Given the description of an element on the screen output the (x, y) to click on. 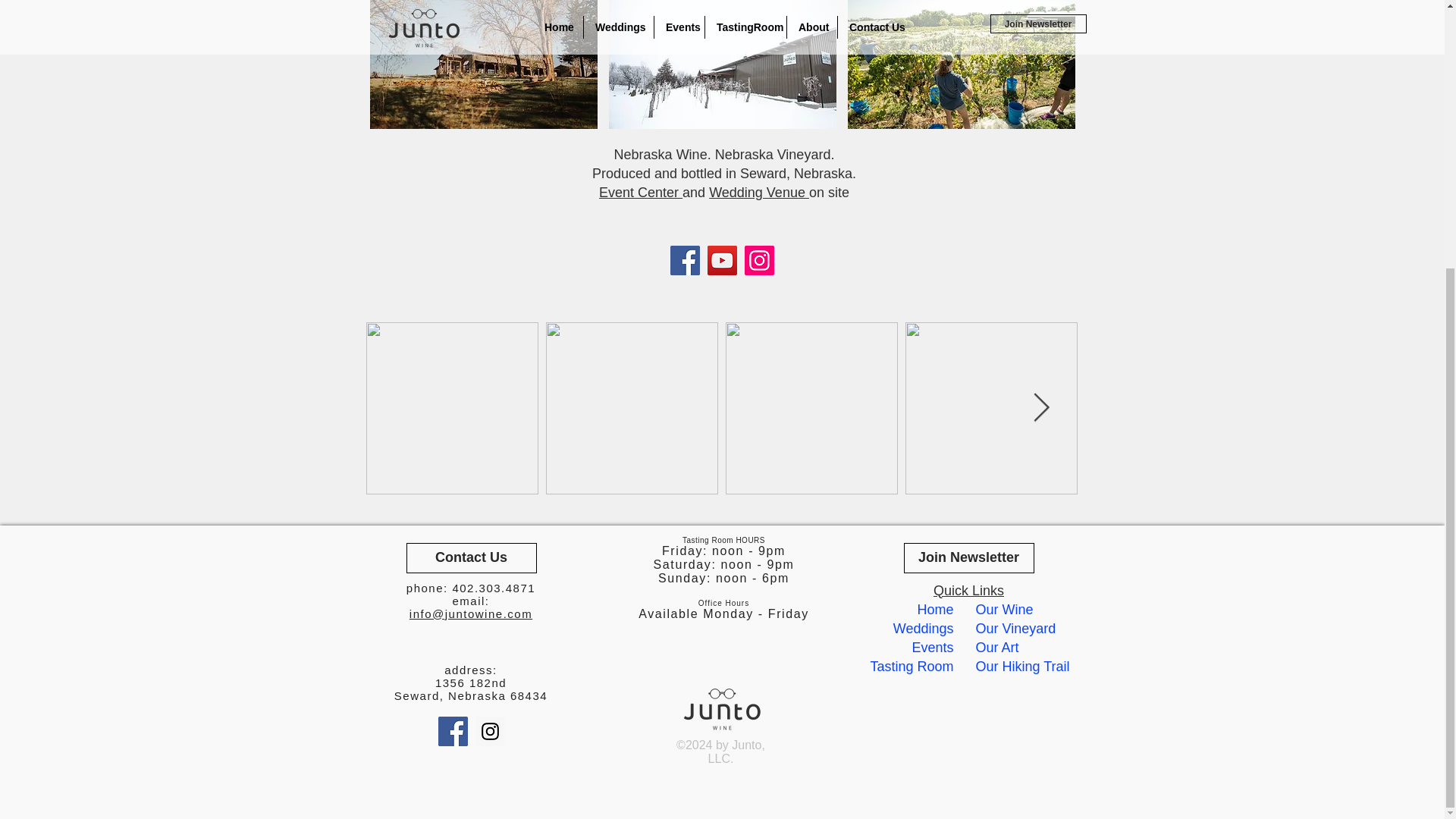
Tasting Room (911, 666)
Home (935, 609)
Wedding Venue (759, 192)
Event Center (640, 192)
Instagram Feed (721, 408)
Events (932, 647)
Contact Us (471, 557)
Our Wine (1003, 609)
Join Newsletter (968, 557)
Weddings (923, 628)
